Given the description of an element on the screen output the (x, y) to click on. 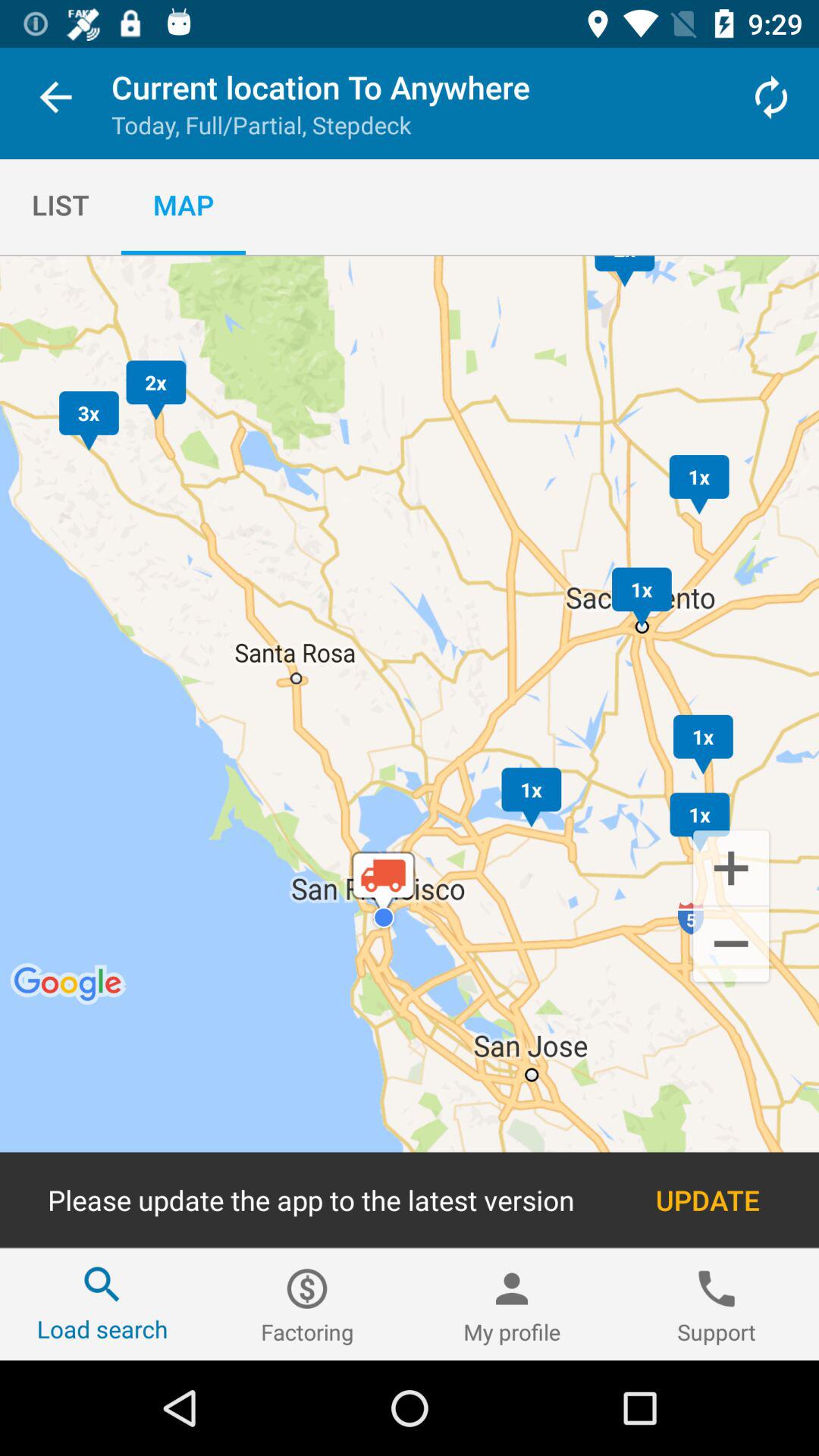
launch the list icon (60, 204)
